Given the description of an element on the screen output the (x, y) to click on. 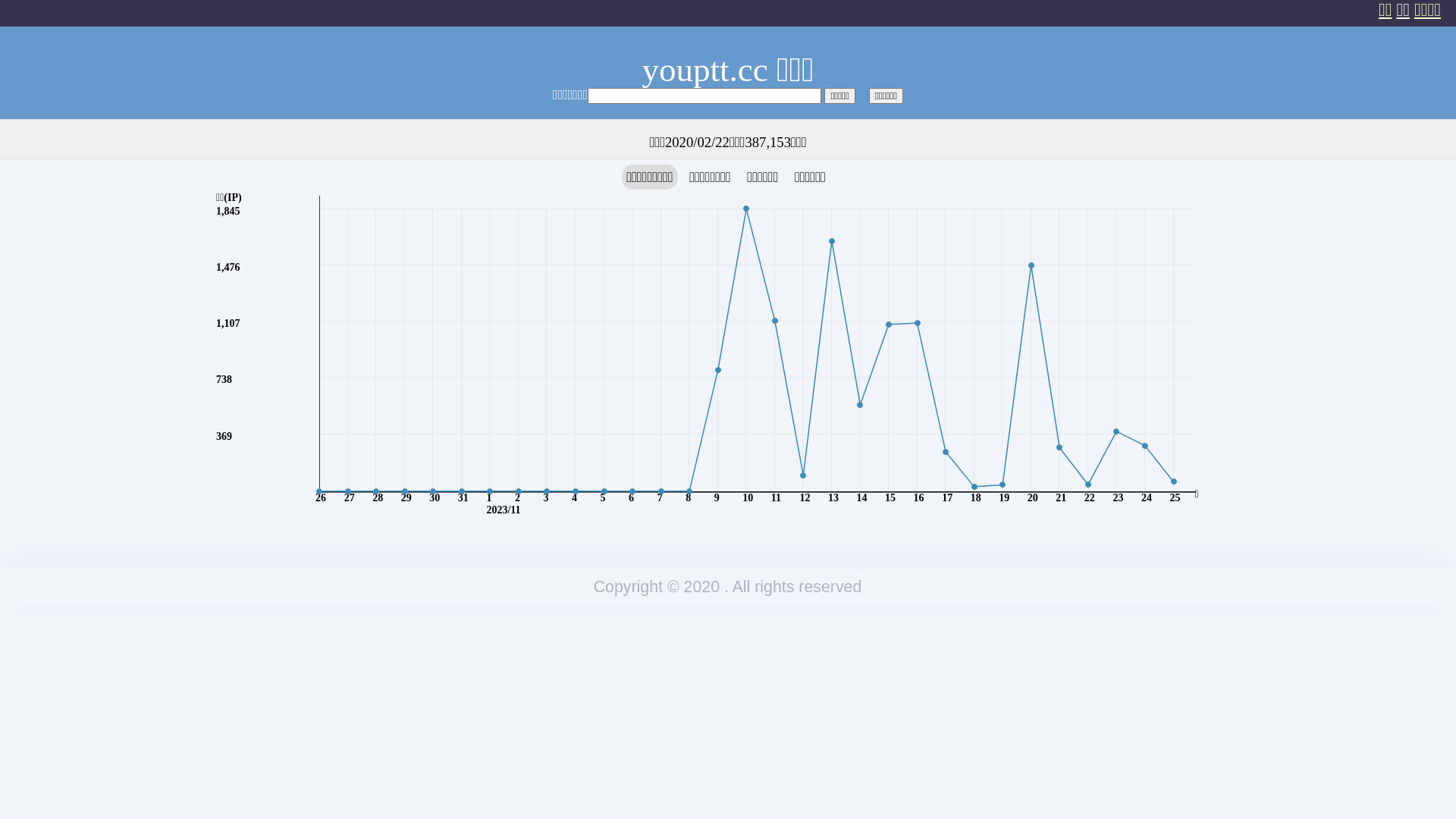
counter Element type: hover (861, 567)
